Given the description of an element on the screen output the (x, y) to click on. 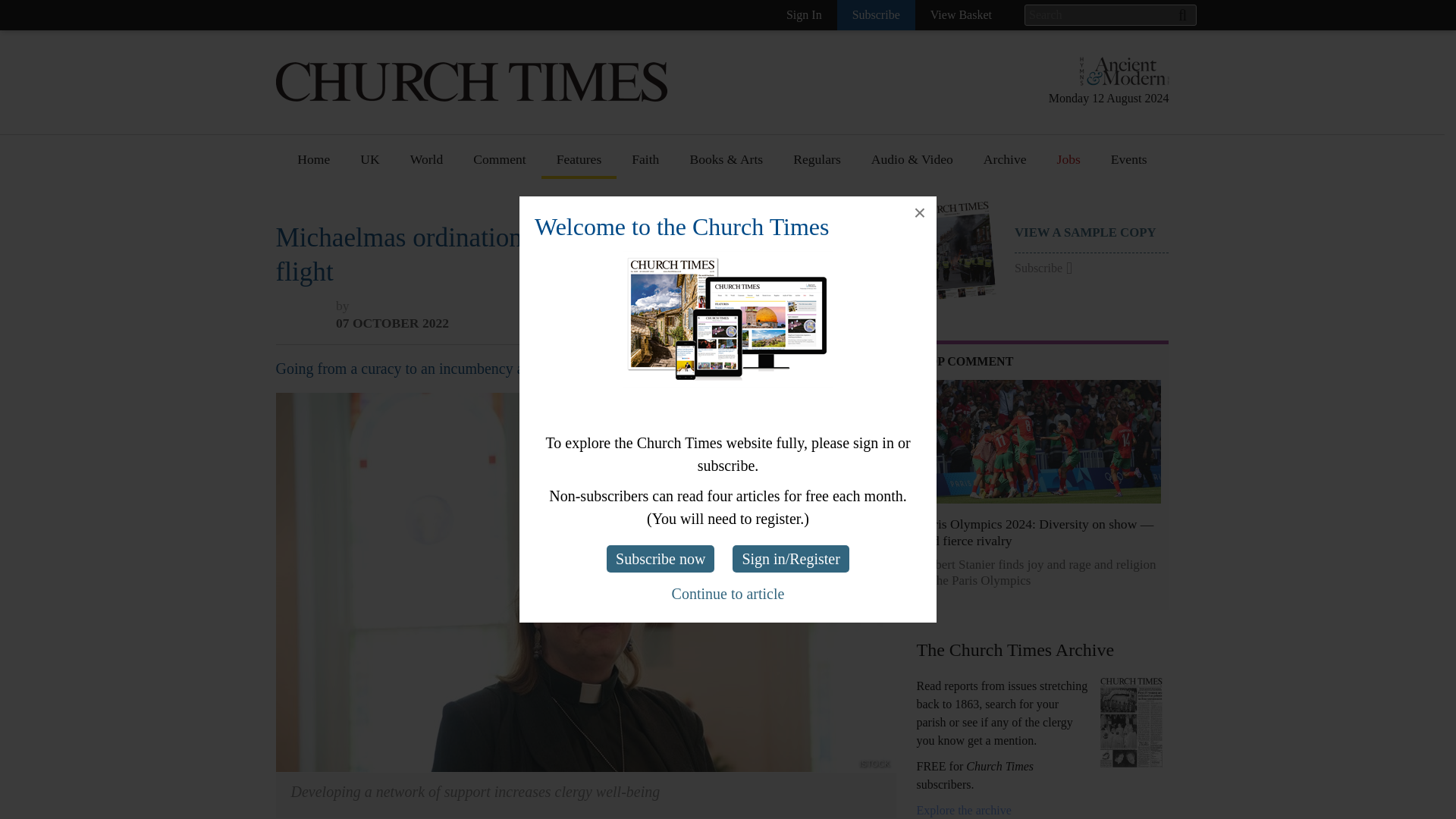
Regulars (816, 164)
Visual arts (718, 287)
Continue to article (727, 593)
Subscribe (876, 15)
UK (369, 164)
Subscribe now (660, 558)
Book club (717, 260)
New titles (716, 232)
Week ahead (721, 456)
Book reviews (726, 204)
